Given the description of an element on the screen output the (x, y) to click on. 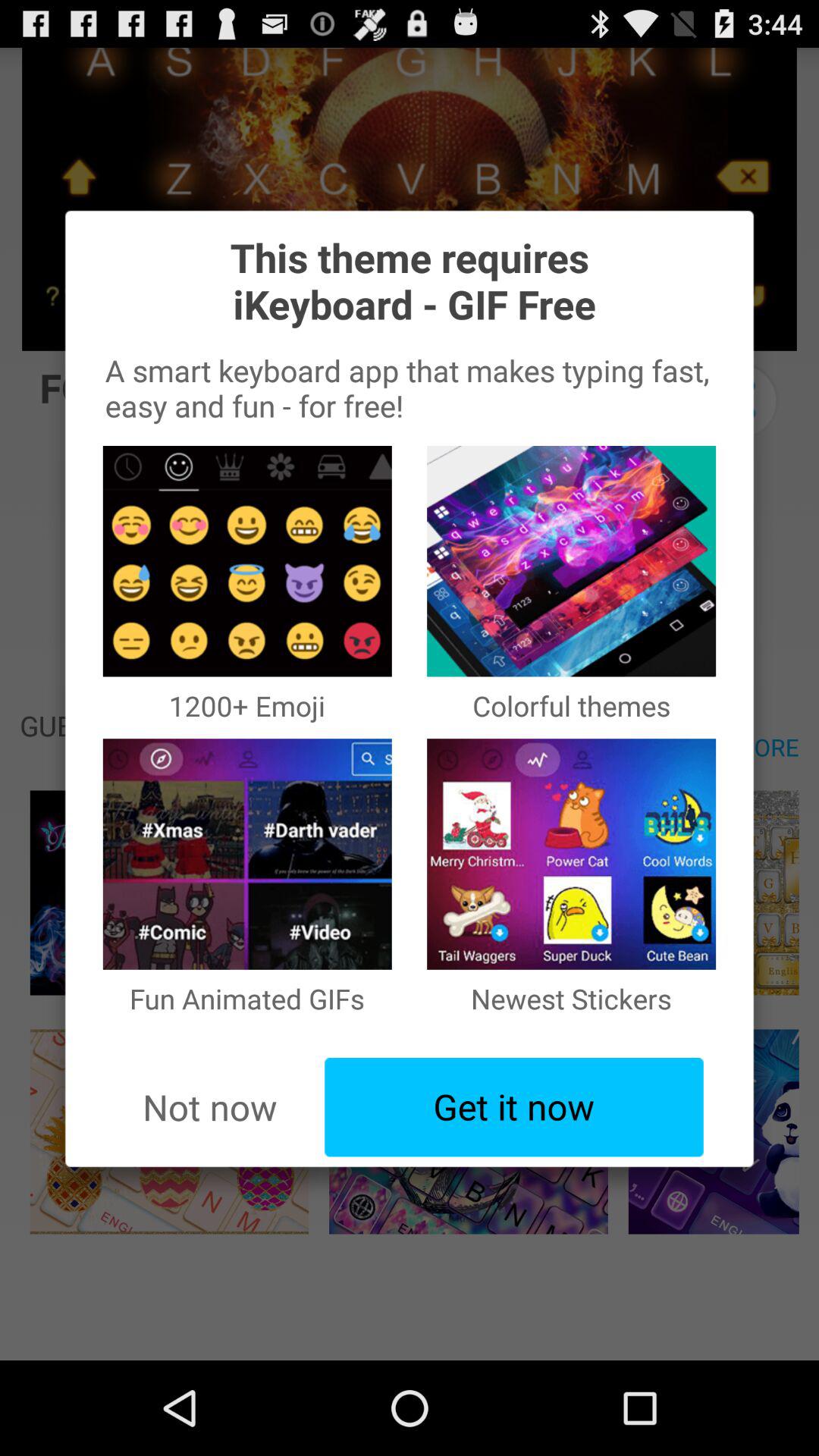
click icon below the fun animated gifs item (513, 1106)
